Given the description of an element on the screen output the (x, y) to click on. 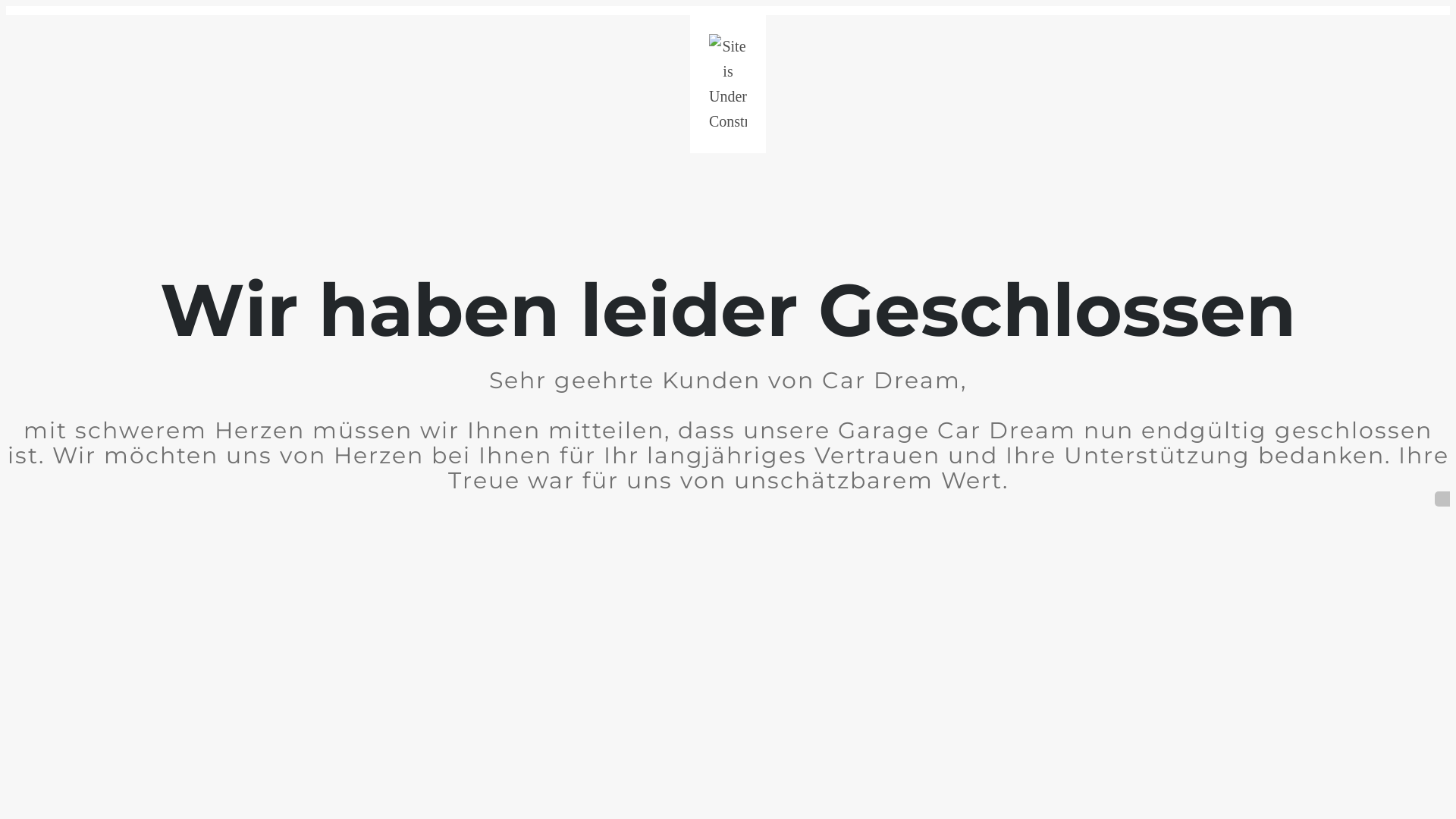
Site is Under Construction Element type: hover (727, 84)
